Given the description of an element on the screen output the (x, y) to click on. 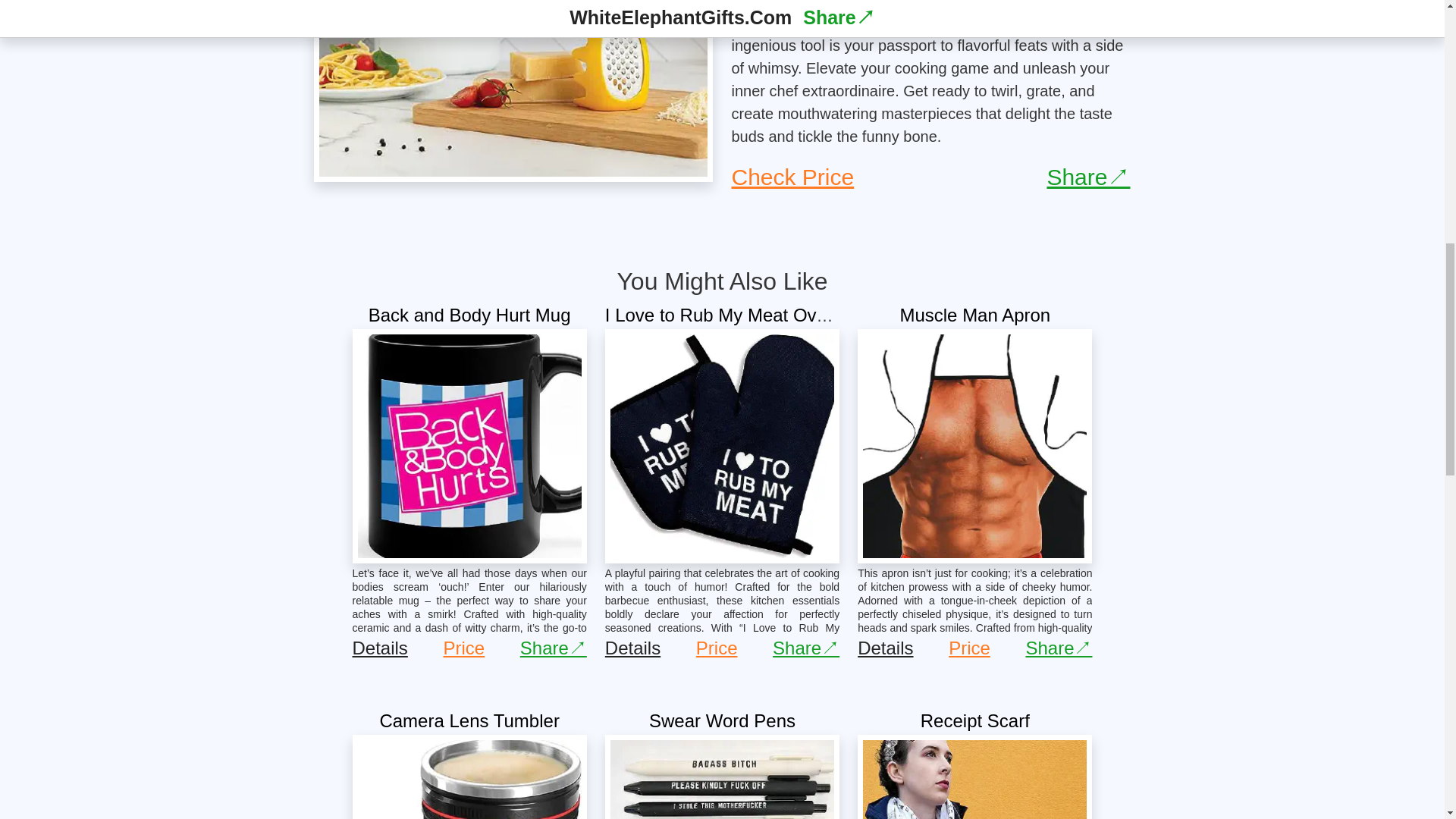
I Love to Rub My Meat Oven Mitt and Pot Holder (801, 314)
Muscle Man Apron (974, 314)
Price (463, 648)
Details (633, 647)
Details (379, 647)
Price (716, 648)
Price (969, 648)
Details (884, 647)
Back and Body Hurt Mug (469, 314)
